Given the description of an element on the screen output the (x, y) to click on. 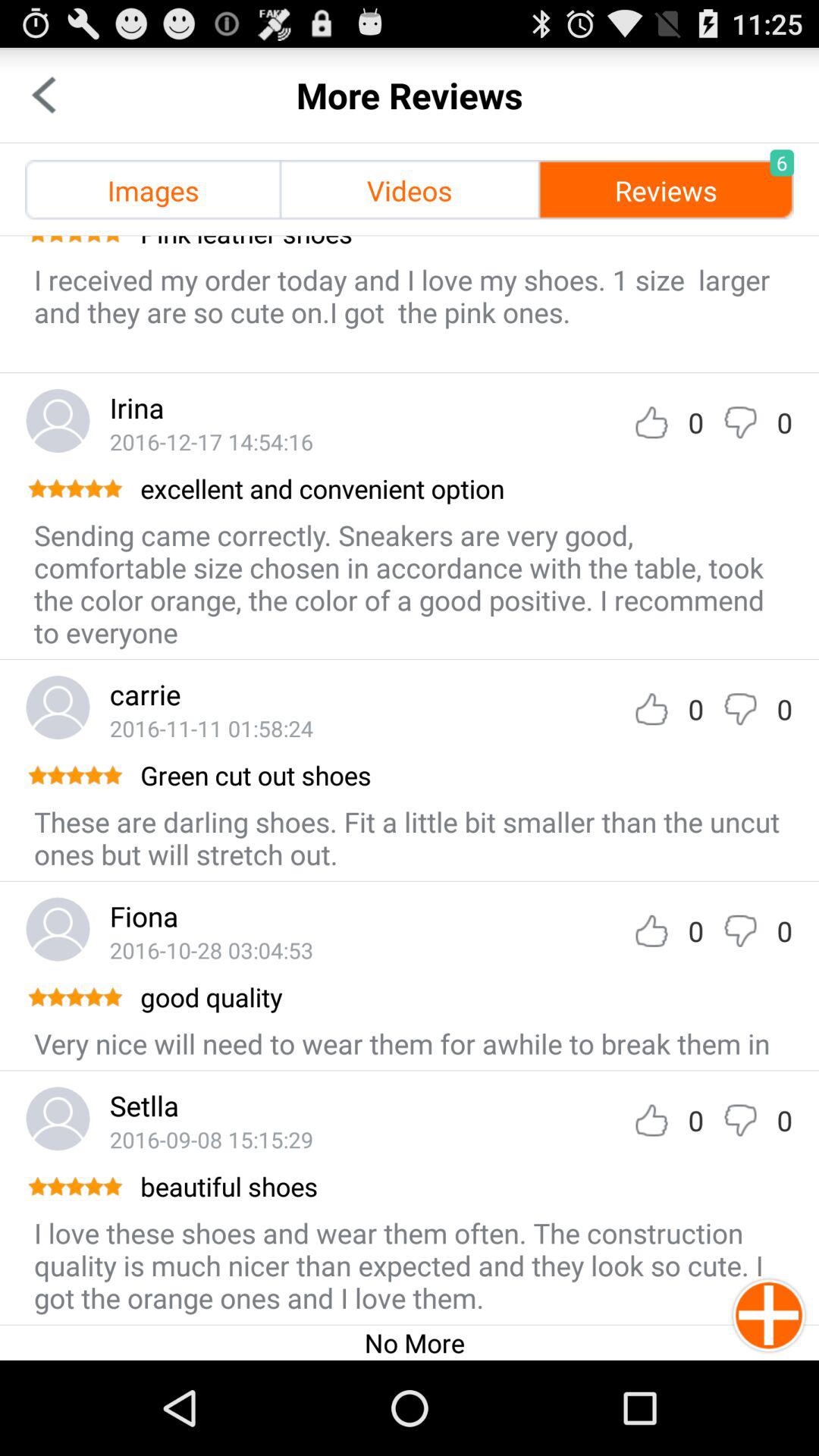
like review (651, 422)
